Given the description of an element on the screen output the (x, y) to click on. 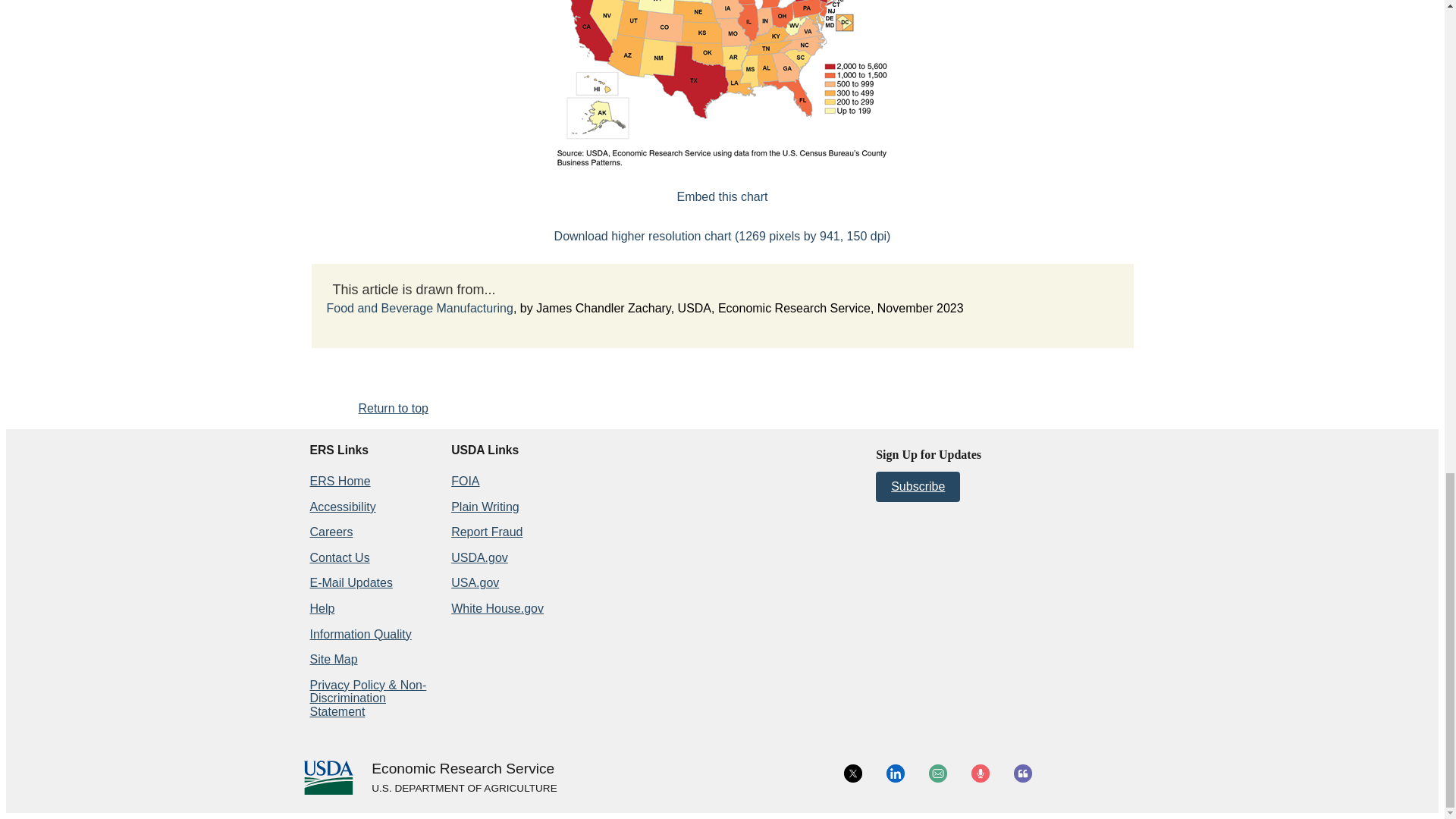
Email Icon (937, 773)
Blog Icon (1021, 773)
Contact Us (338, 557)
USDA.gov (463, 788)
E-Mail Updates (349, 582)
ERS Home (338, 481)
Home (462, 768)
Embed this chart (722, 196)
LinkedIn icon (894, 773)
Accessibility (341, 506)
